Given the description of an element on the screen output the (x, y) to click on. 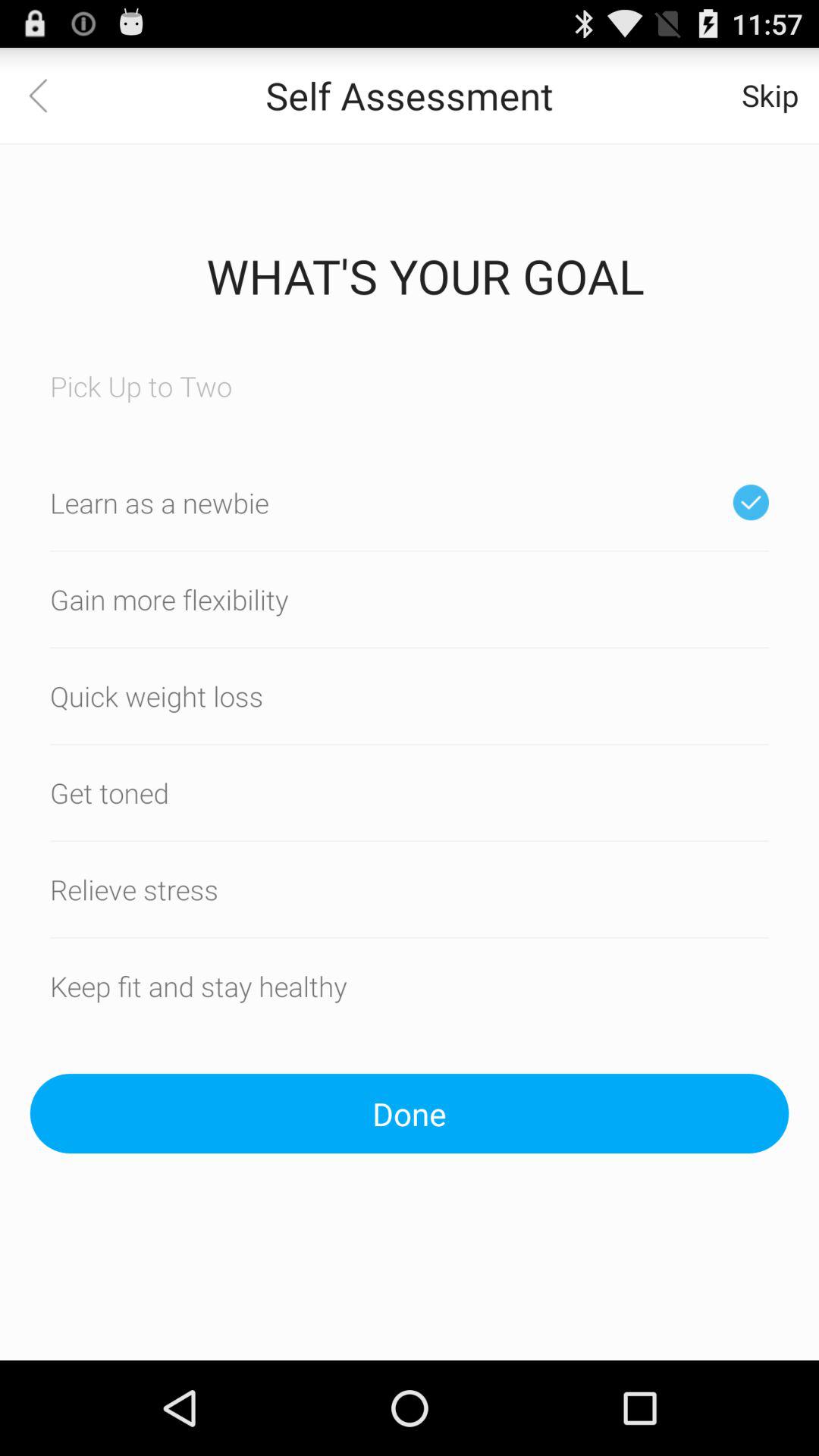
select app to the left of the self assessment (47, 95)
